Given the description of an element on the screen output the (x, y) to click on. 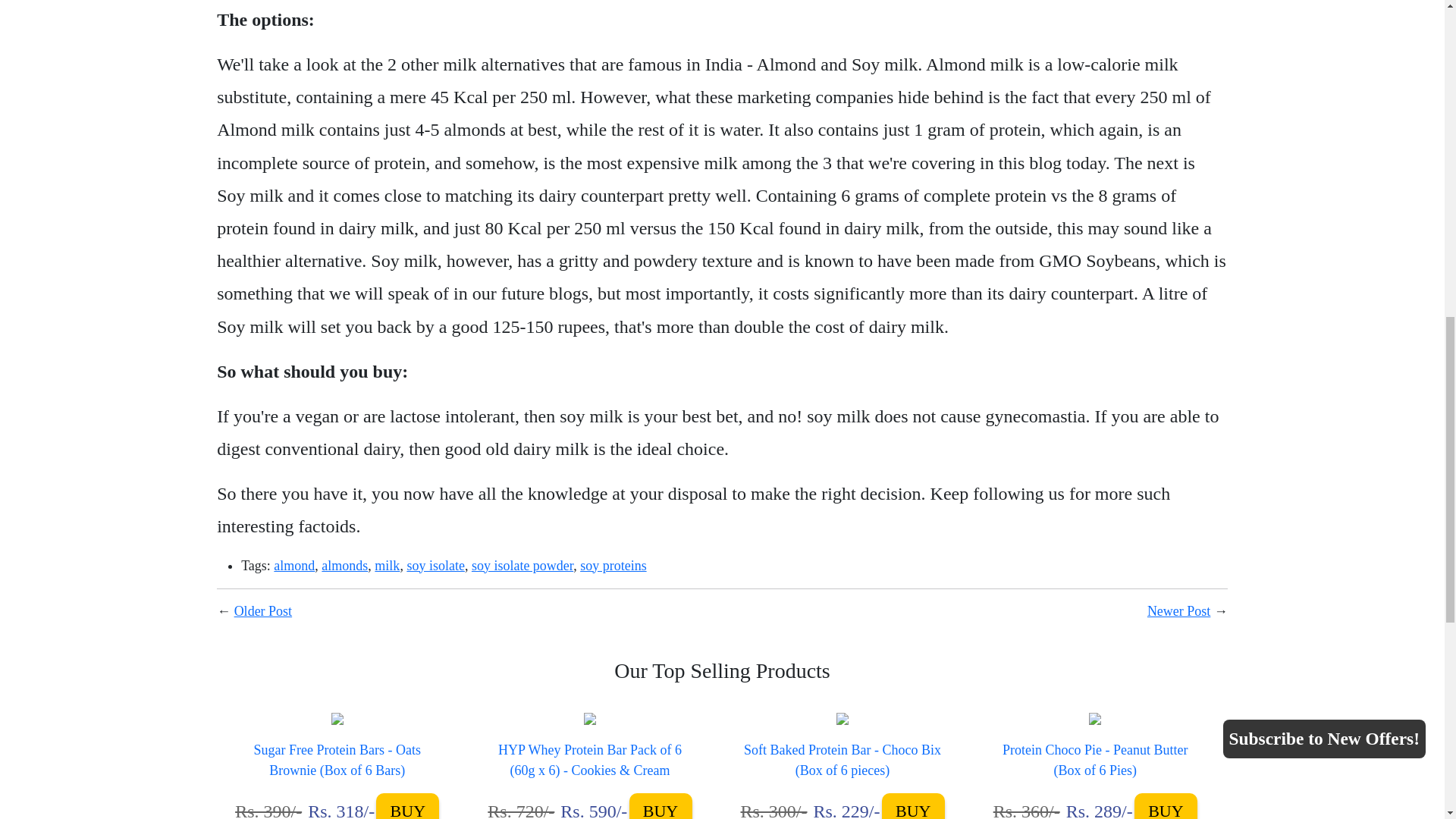
BUY (913, 806)
soy isolate (435, 565)
Older Post (263, 611)
soy isolate powder (522, 565)
almonds (344, 565)
BUY (1165, 806)
BUY (407, 806)
soy proteins (612, 565)
Newer Post (1179, 611)
milk (386, 565)
